Given the description of an element on the screen output the (x, y) to click on. 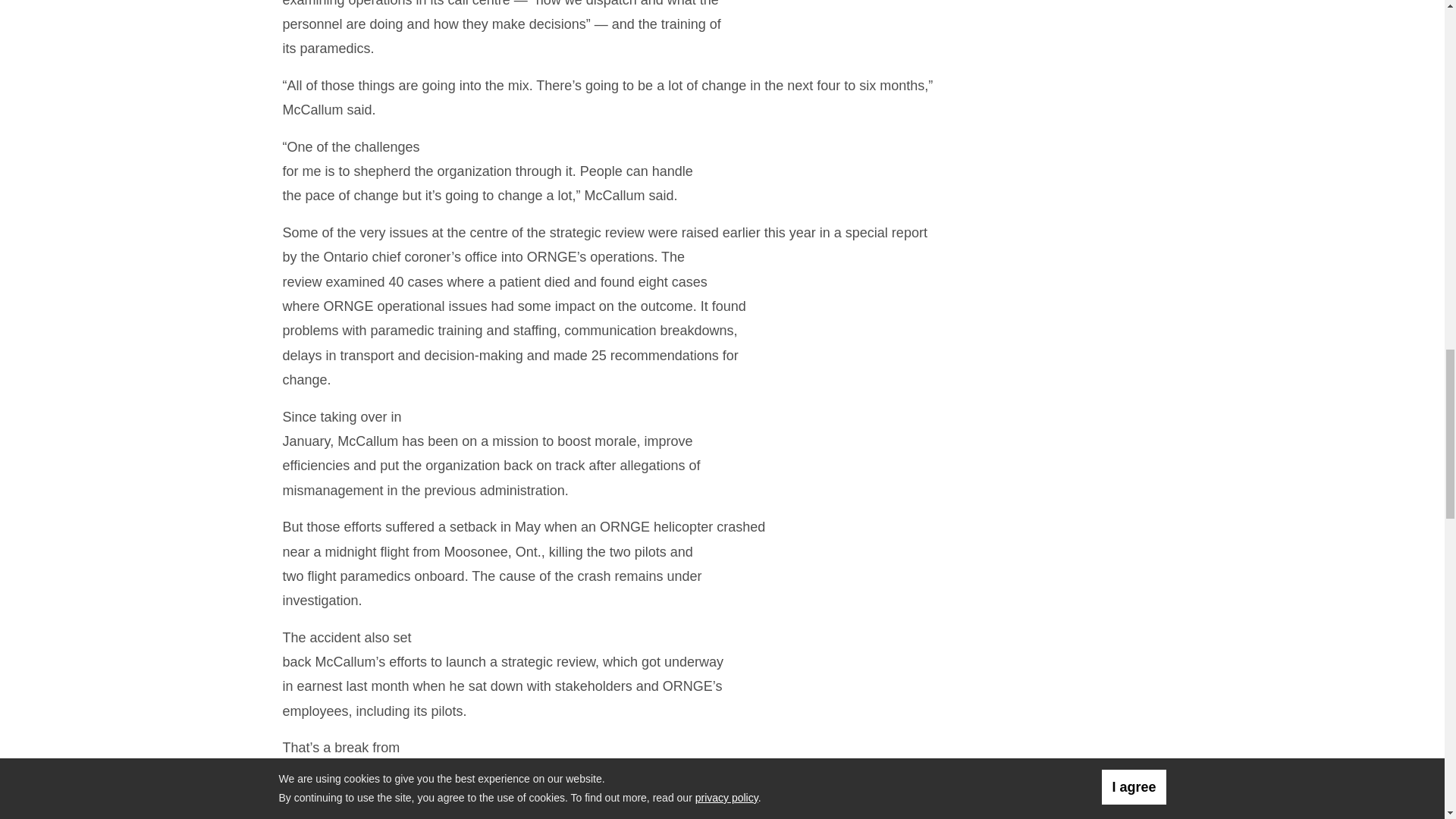
3rd party ad content (1060, 47)
